Given the description of an element on the screen output the (x, y) to click on. 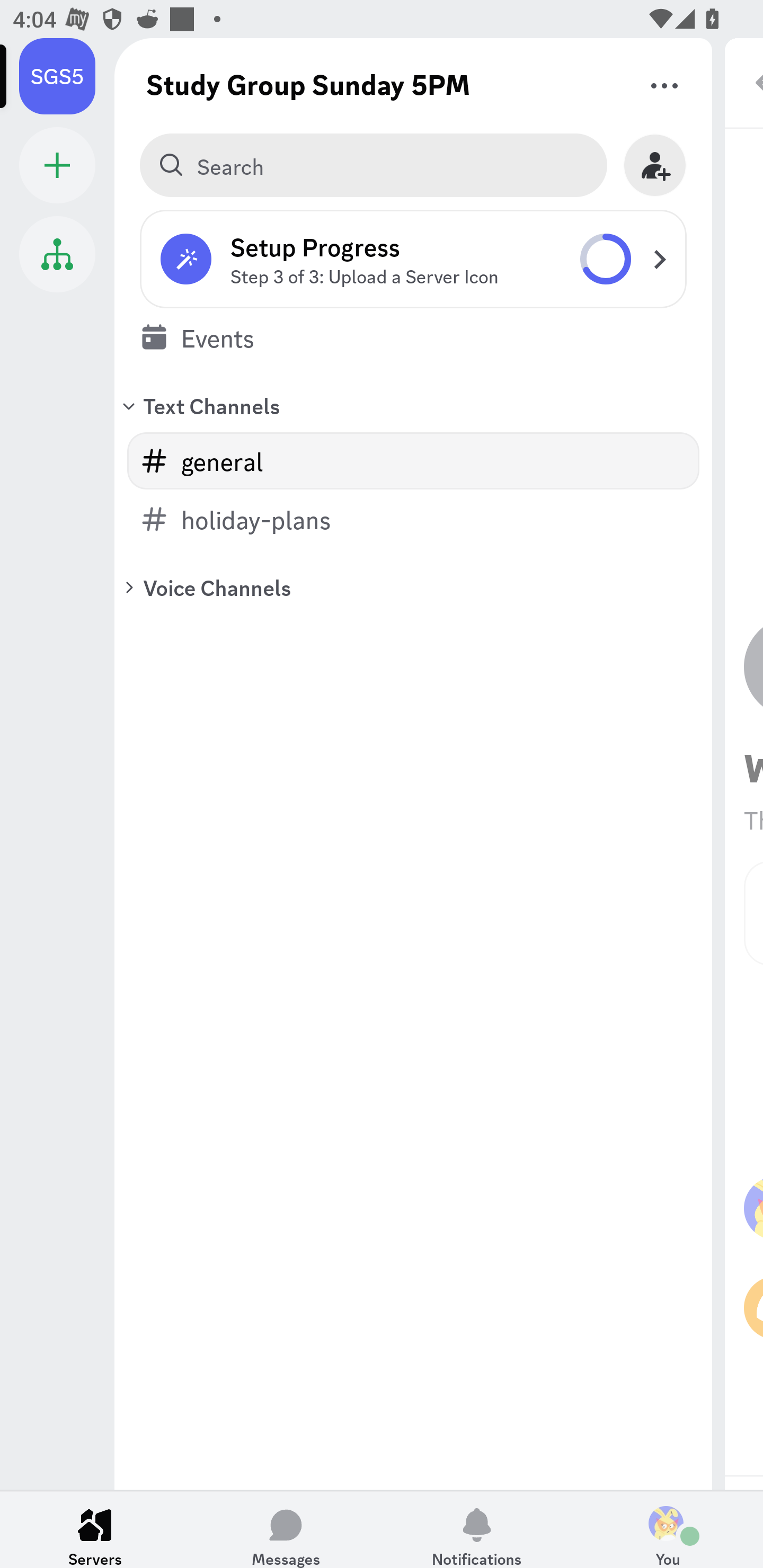
  Study Group Sunday 5PM SGS5 (66, 75)
Study Group Sunday 5PM (308, 83)
Add a Server (57, 165)
Search (373, 165)
Invite (654, 165)
Student Hub (57, 253)
Events (413, 336)
Text Channels (412, 404)
general (text channel) general (413, 460)
holiday-plans (text channel) holiday-plans (413, 518)
Voice Channels (412, 586)
Servers (95, 1529)
Messages (285, 1529)
Notifications (476, 1529)
You (667, 1529)
